Given the description of an element on the screen output the (x, y) to click on. 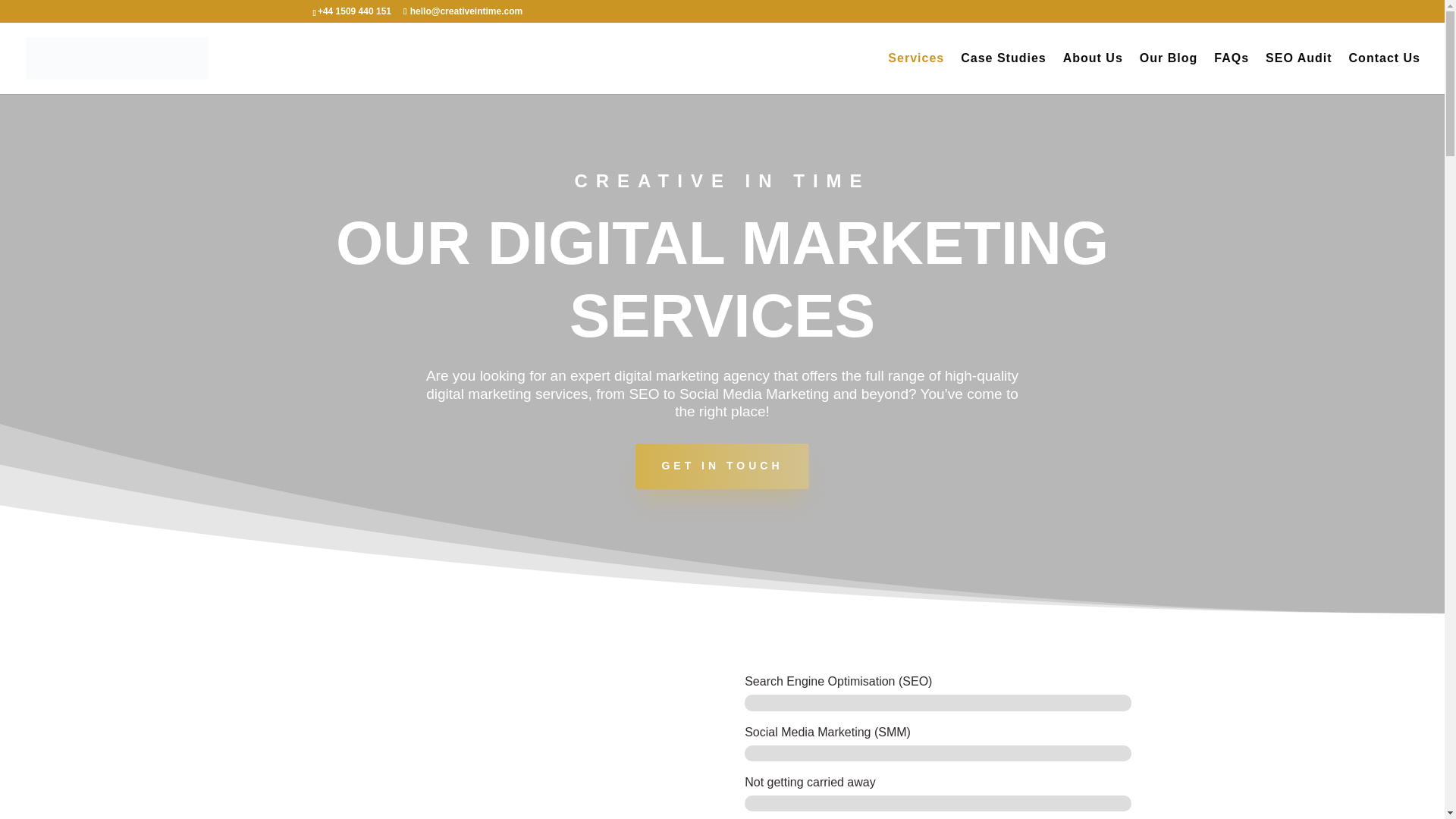
Contact Us (1385, 73)
GET IN TOUCH (721, 465)
Services (915, 73)
About Us (1092, 73)
Our Blog (1168, 73)
Case Studies (1002, 73)
SEO Audit (1298, 73)
